Given the description of an element on the screen output the (x, y) to click on. 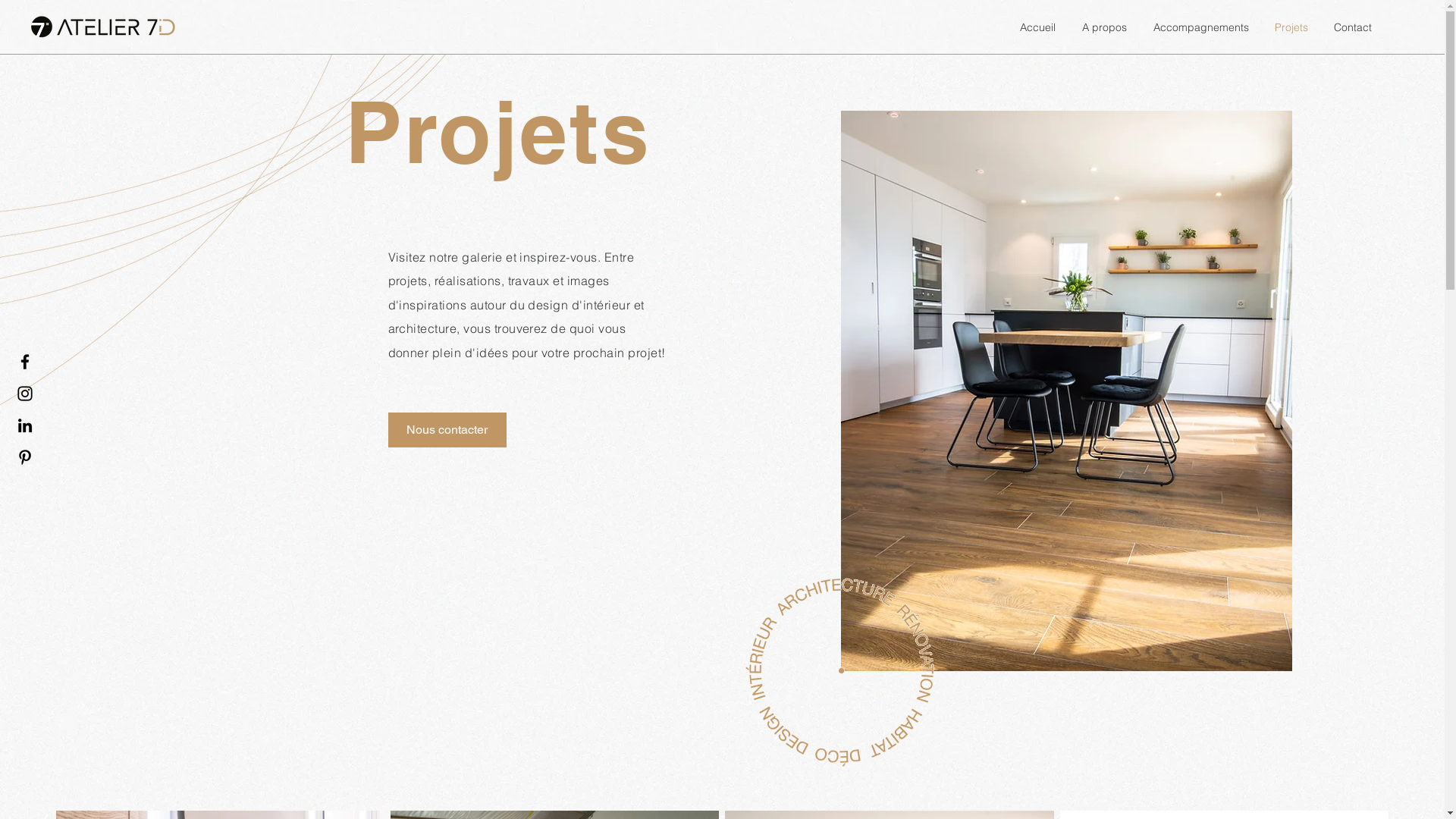
Nous contacter Element type: text (447, 429)
Accompagnements Element type: text (1199, 27)
A propos Element type: text (1102, 27)
Accueil Element type: text (1035, 27)
Projets Element type: text (1289, 27)
Contact Element type: text (1351, 27)
